Given the description of an element on the screen output the (x, y) to click on. 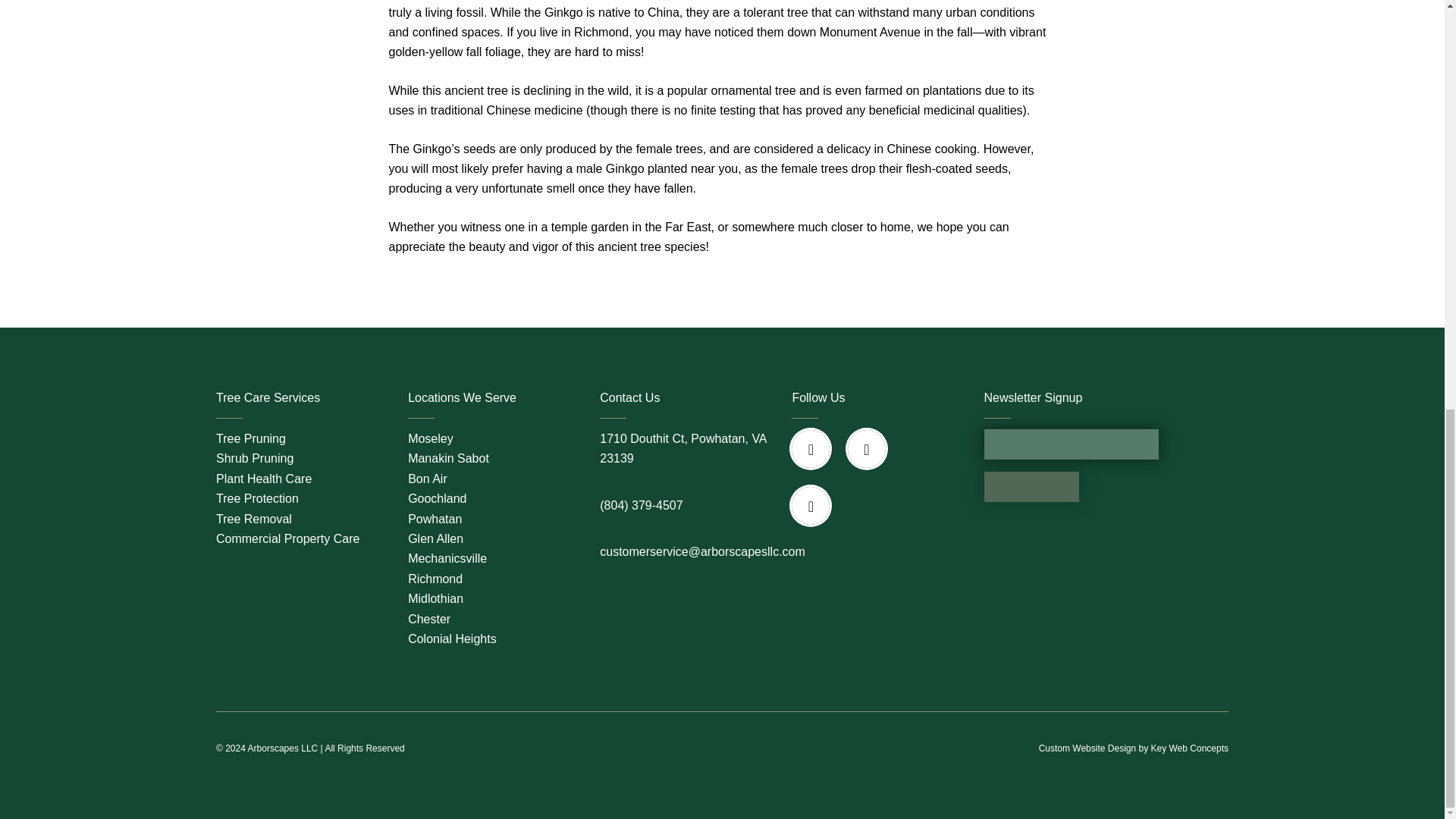
Subscribe! (1031, 486)
